Given the description of an element on the screen output the (x, y) to click on. 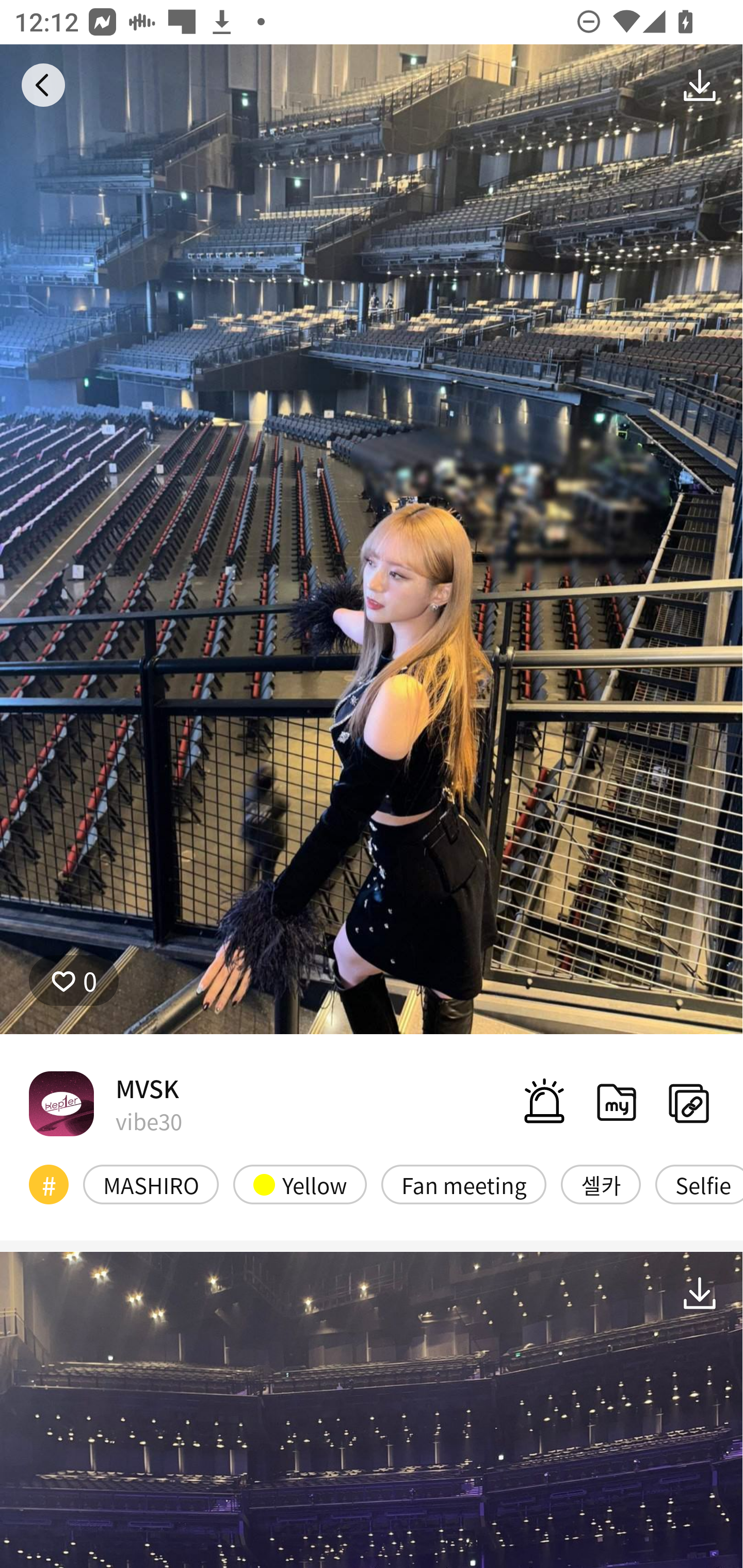
0 (73, 980)
MVSK vibe30 (105, 1102)
MASHIRO (150, 1184)
Yellow (300, 1184)
Fan meeting (463, 1184)
셀카 (600, 1184)
Selfie (699, 1184)
